Given the description of an element on the screen output the (x, y) to click on. 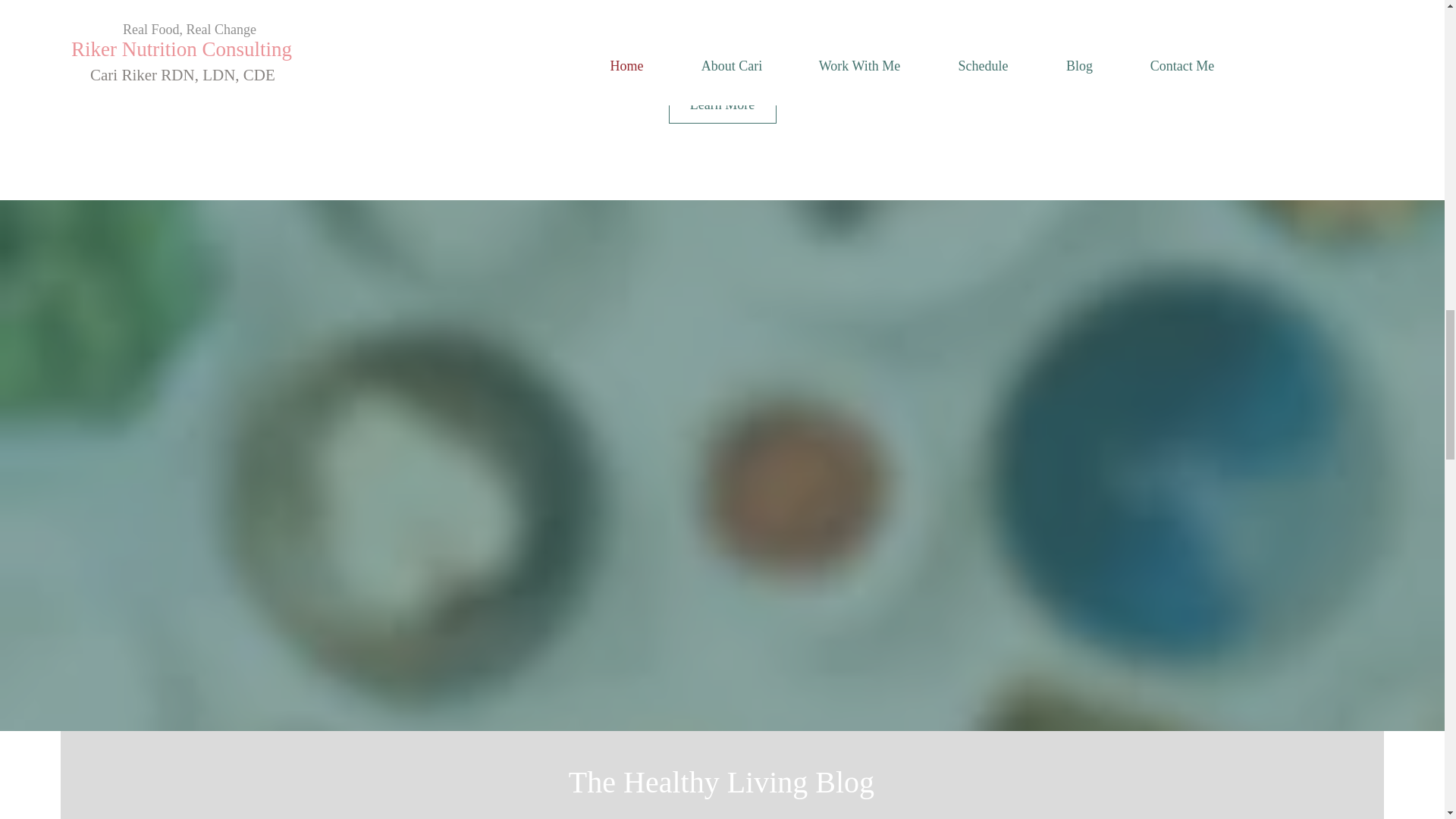
Learn More (722, 104)
